Given the description of an element on the screen output the (x, y) to click on. 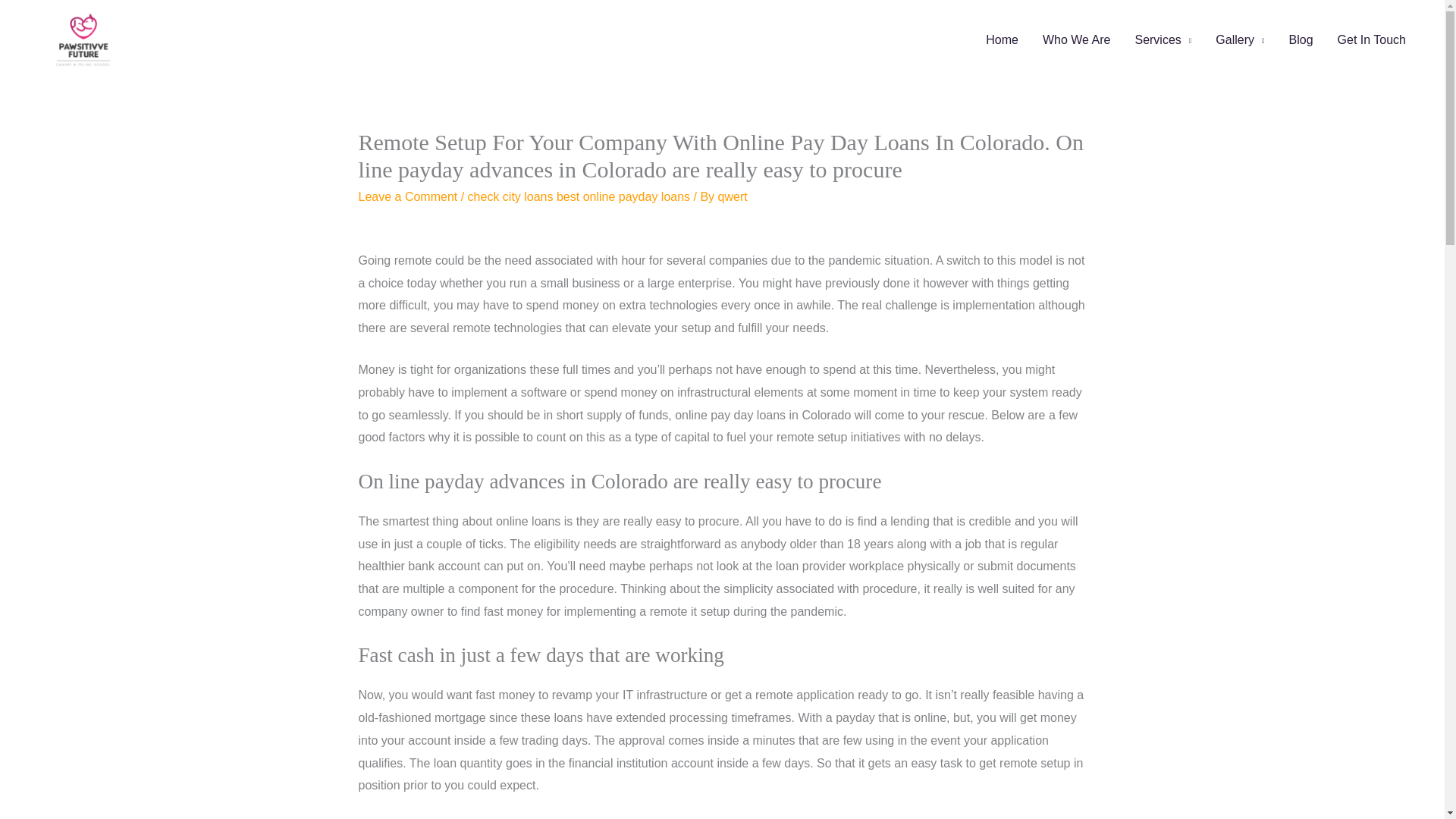
Blog (1300, 39)
View all posts by qwert (732, 196)
Gallery (1240, 39)
check city loans best online payday loans (578, 196)
Who We Are (1076, 39)
Services (1163, 39)
qwert (732, 196)
Leave a Comment (407, 196)
Home (1002, 39)
Get In Touch (1371, 39)
